Given the description of an element on the screen output the (x, y) to click on. 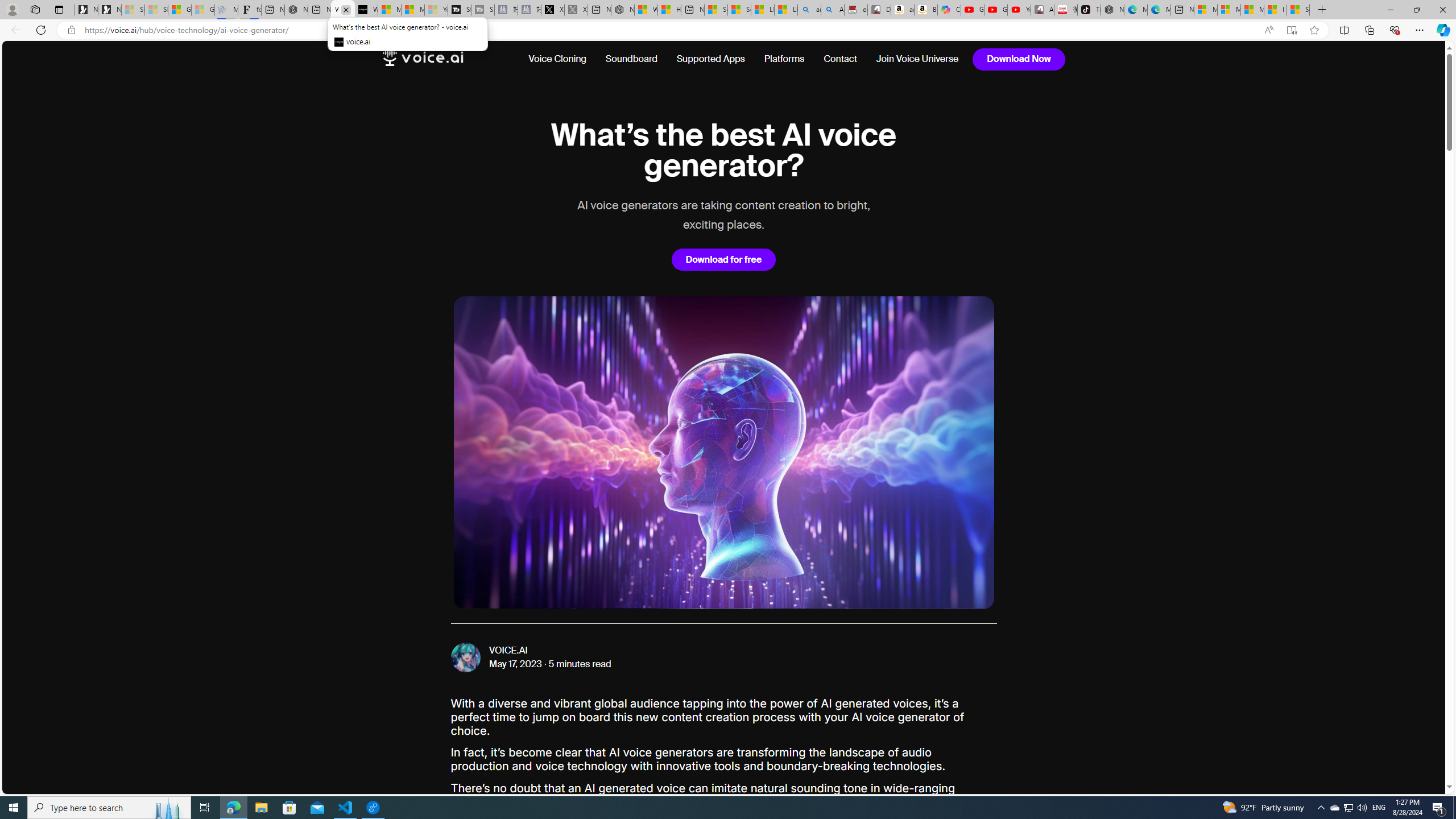
Supported Apps (710, 59)
Copilot (949, 9)
Supported Apps (710, 59)
